Given the description of an element on the screen output the (x, y) to click on. 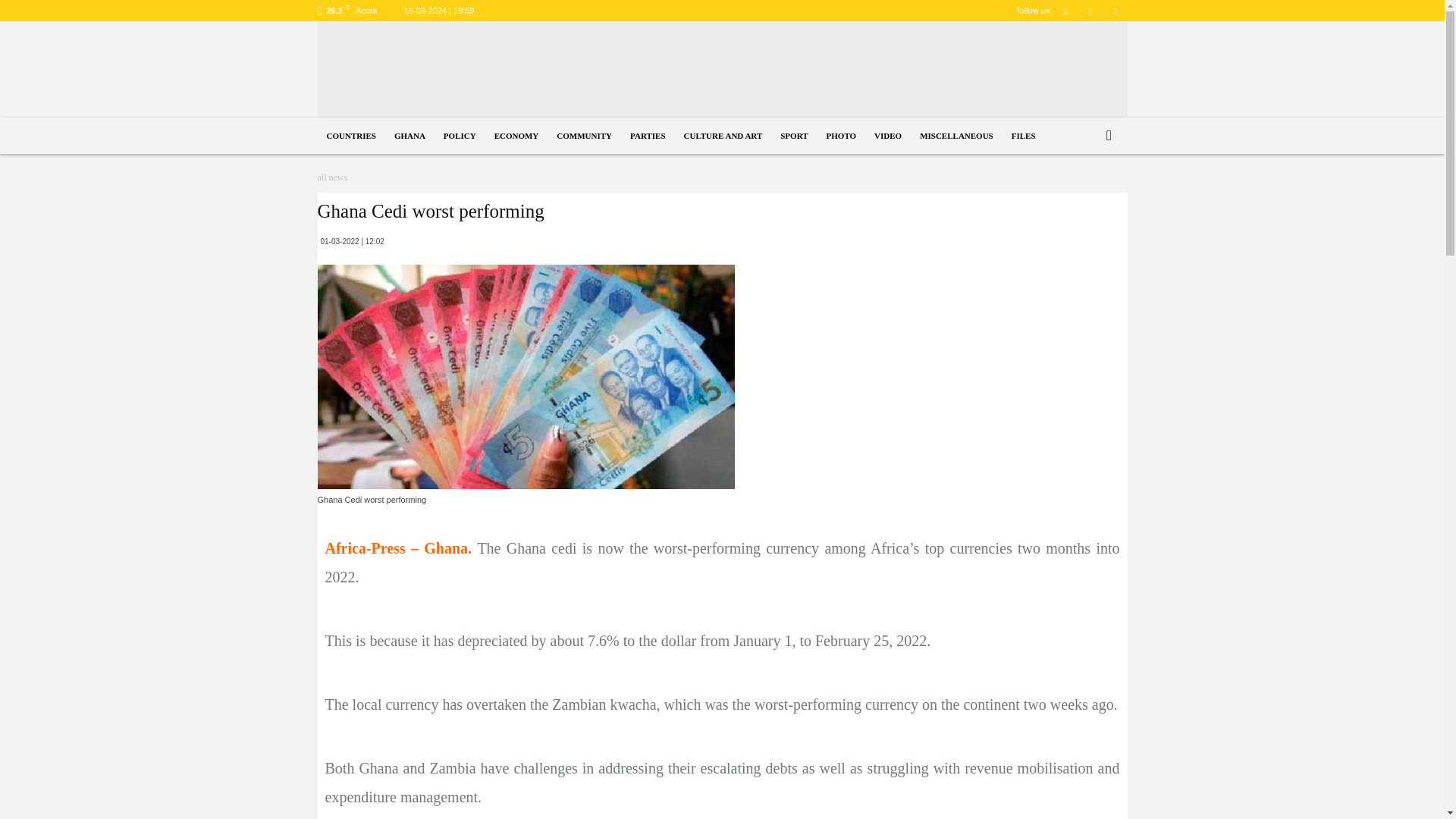
POLICY (458, 135)
PARTIES (647, 135)
Youtube (1114, 10)
GHANA (409, 135)
Ghana Cedi worst performing (525, 376)
SPORT (793, 135)
VIDEO (887, 135)
MISCELLANEOUS (957, 135)
ECONOMY (516, 135)
Twitter (1090, 10)
